Given the description of an element on the screen output the (x, y) to click on. 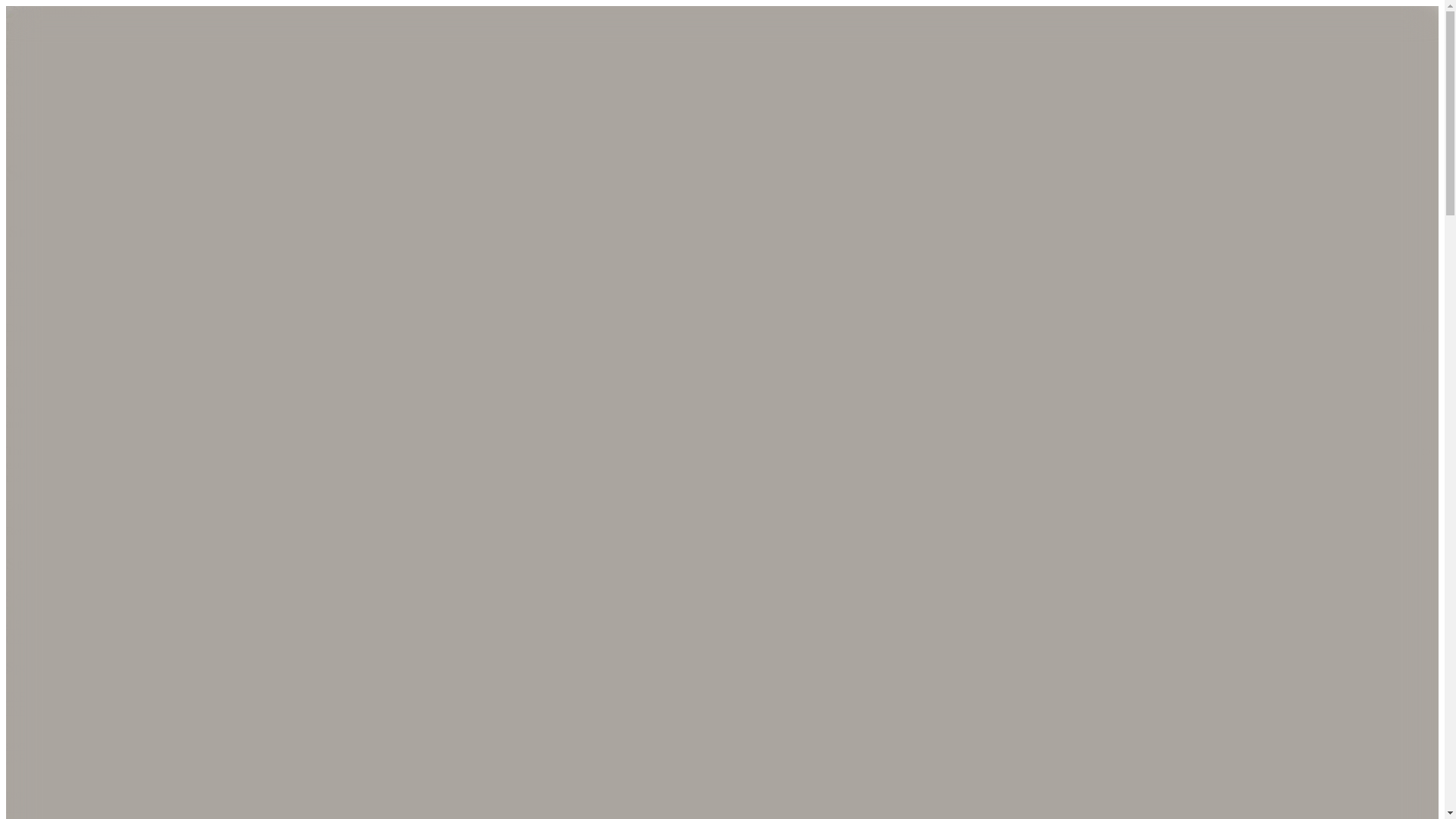
Seville tour packages (400, 327)
Spain Portugal Honeymoon Package (97, 266)
Portugal and Morocco Tour Package (97, 299)
Portugal Spain Morocco Tour Package (101, 282)
